Given the description of an element on the screen output the (x, y) to click on. 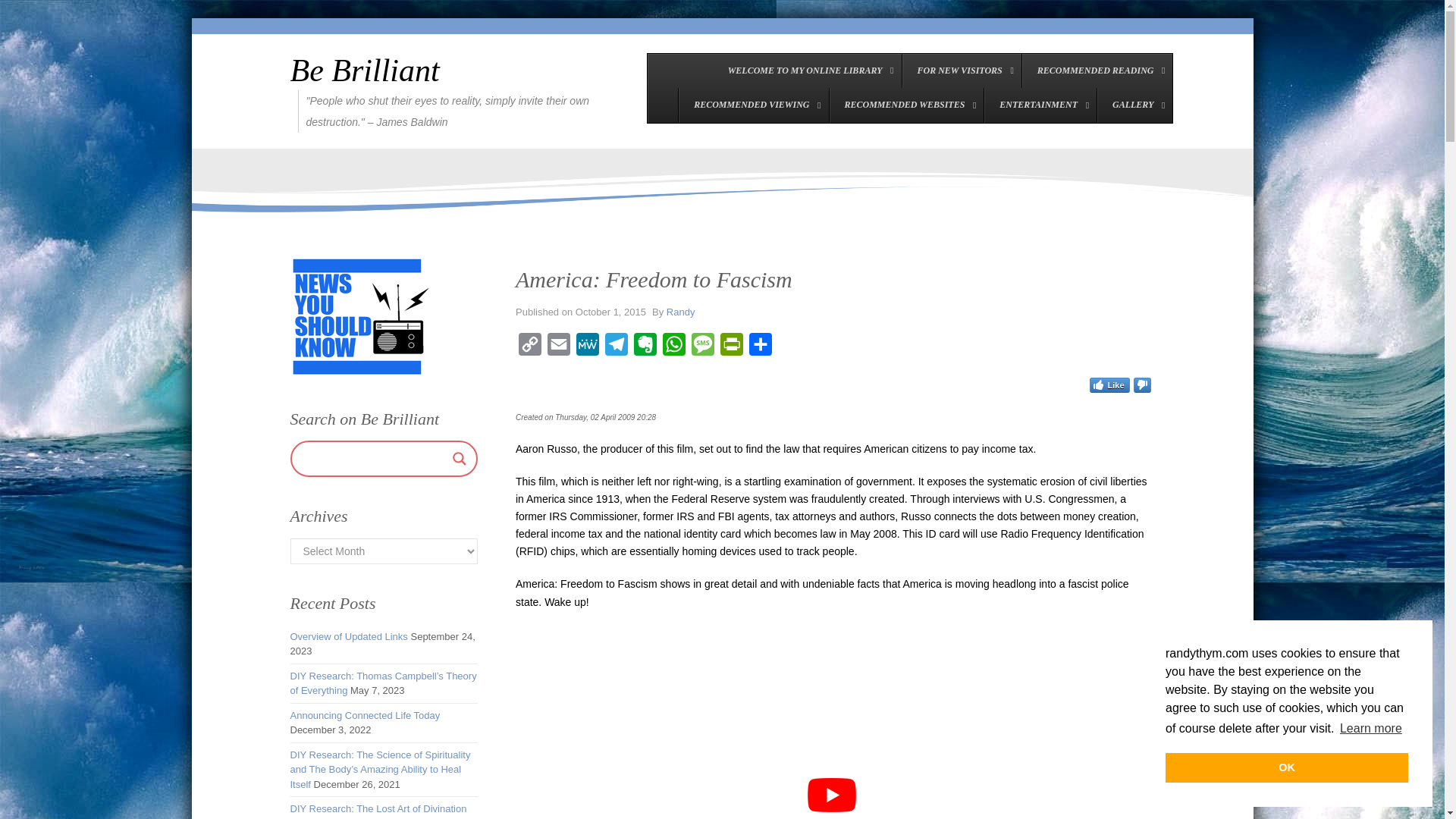
FOR NEW VISITORS (960, 70)
Copy Link (529, 347)
MeWe (587, 347)
RECOMMENDED READING (1097, 70)
WhatsApp (673, 347)
Email (558, 347)
WELCOME TO MY ONLINE LIBRARY (807, 70)
Telegram (616, 347)
RECOMMENDED WEBSITES (906, 104)
Message (702, 347)
PrintFriendly (731, 347)
Be Brilliant (364, 70)
Evernote (644, 347)
RECOMMENDED VIEWING (753, 104)
